Given the description of an element on the screen output the (x, y) to click on. 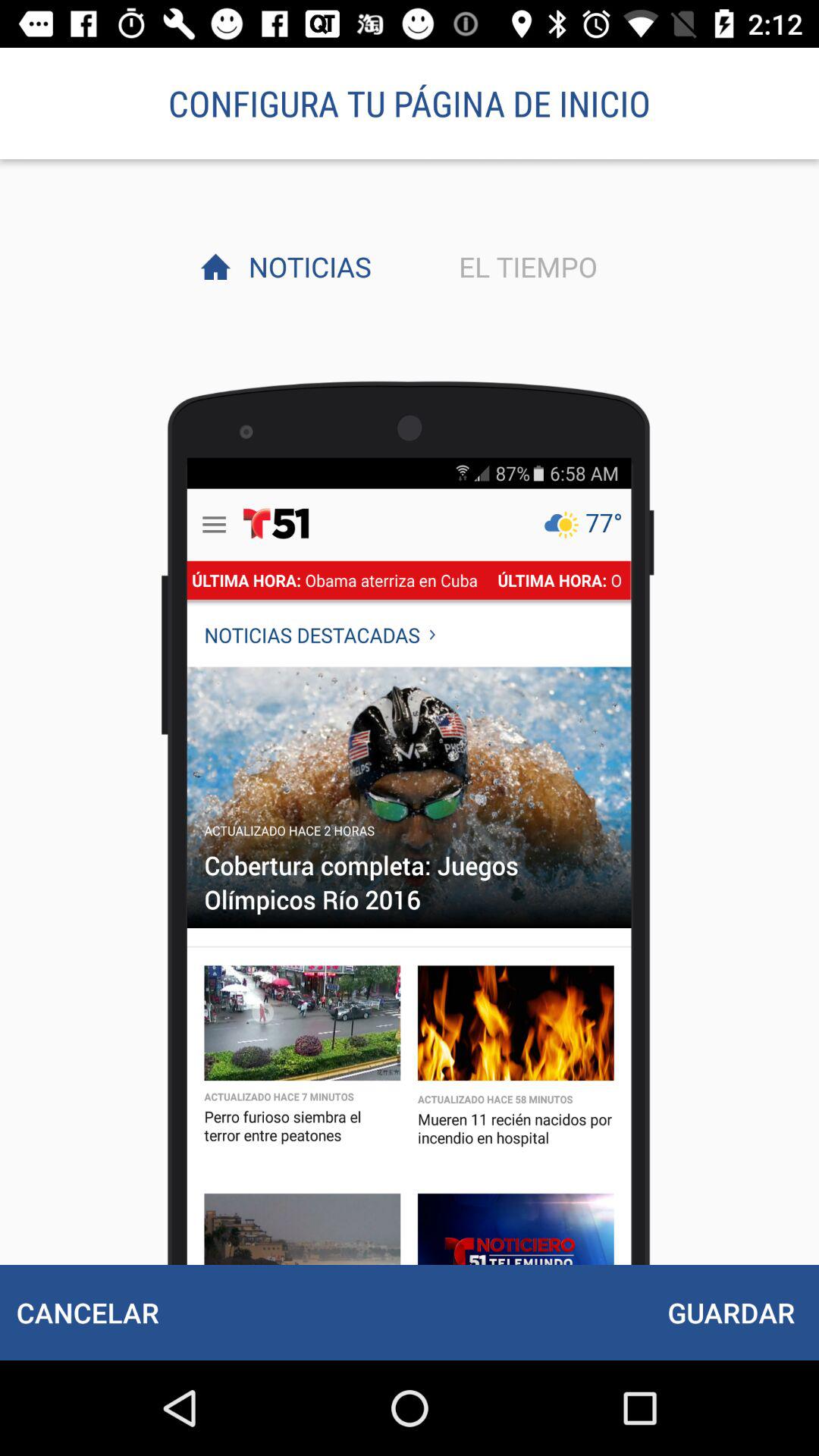
choose the icon to the right of the noticias item (524, 266)
